Given the description of an element on the screen output the (x, y) to click on. 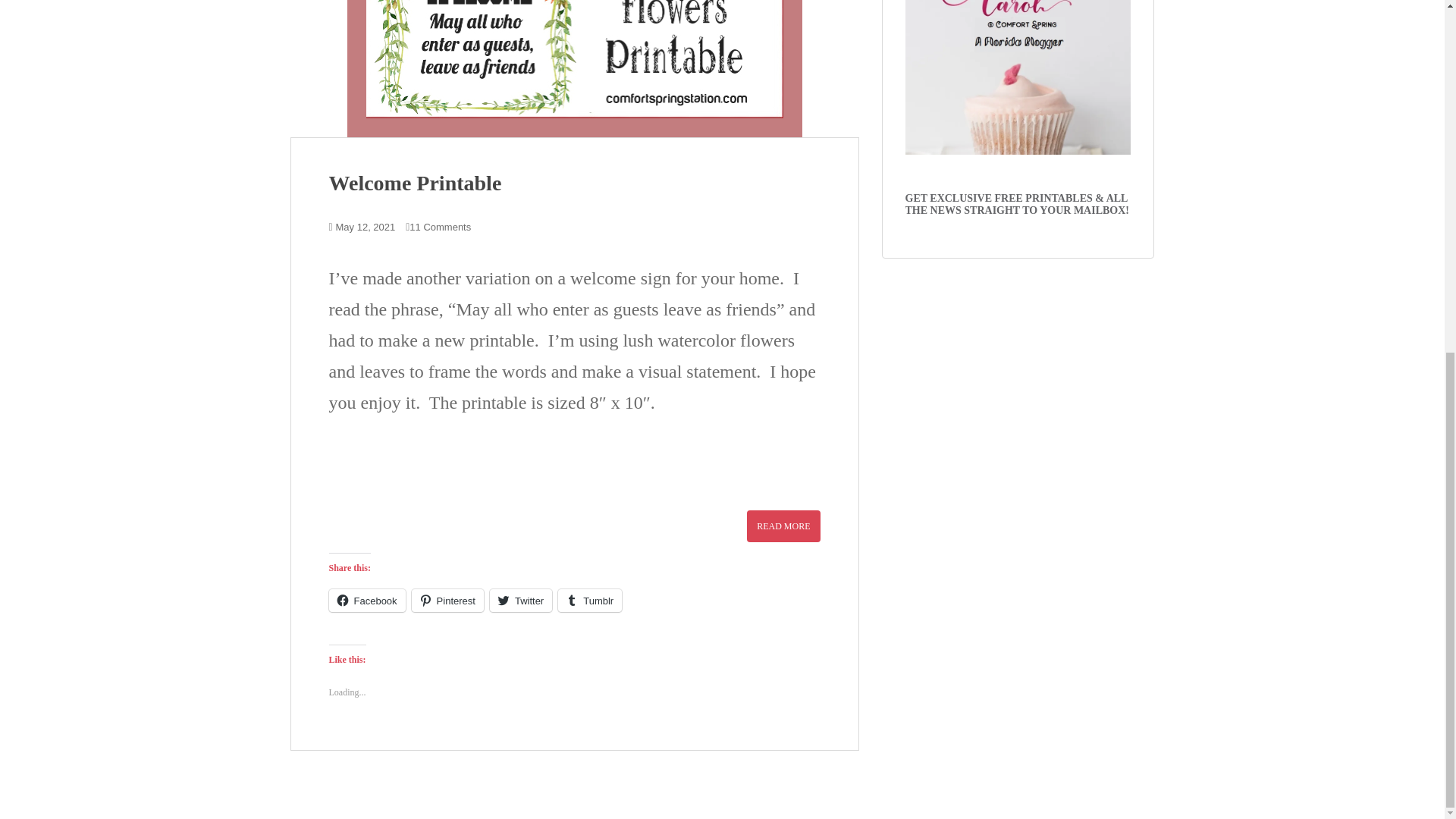
Click to share on Twitter (520, 599)
READ MORE (782, 526)
Pinterest (447, 599)
Click to share on Pinterest (447, 599)
Tumblr (589, 599)
Welcome Printable (574, 68)
11 Comments (439, 226)
Facebook (367, 599)
Twitter (520, 599)
Click to share on Tumblr (589, 599)
Click to share on Facebook (367, 599)
May 12, 2021 (366, 226)
Carol (1018, 77)
Welcome Printable (415, 182)
